Given the description of an element on the screen output the (x, y) to click on. 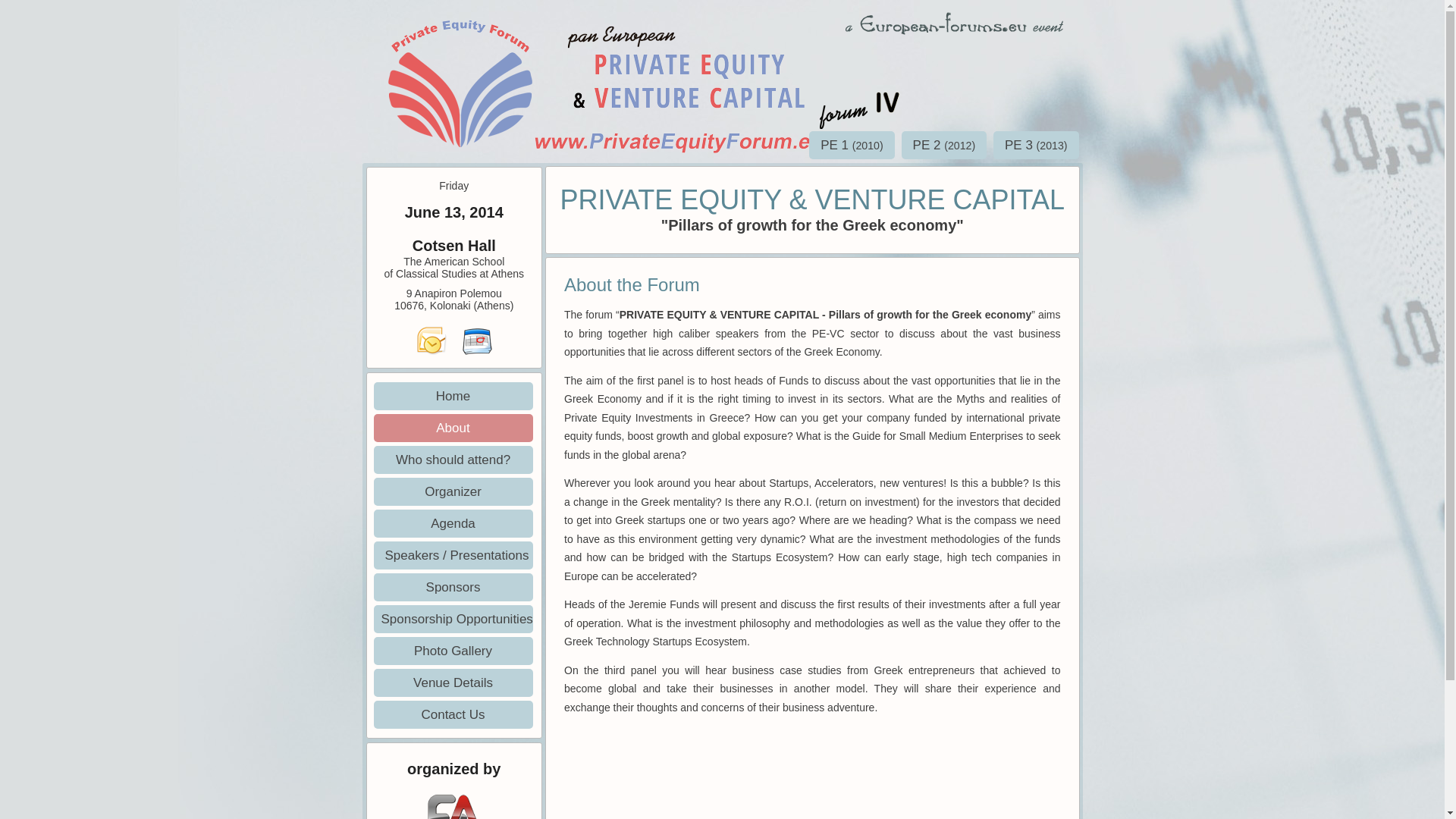
Agenda (452, 523)
Contact Us (452, 714)
Organizers (453, 789)
Add to Google Calendar (476, 339)
About (452, 428)
Sponsors (452, 587)
Organizer (452, 491)
www.european-forums.eu (953, 22)
Homepage (458, 140)
Who should attend? (452, 459)
Add to Outlook Calendar (431, 339)
Home (452, 396)
Photo Gallery (452, 651)
Sponsorship Opportunities (452, 619)
Venue Details (452, 682)
